Given the description of an element on the screen output the (x, y) to click on. 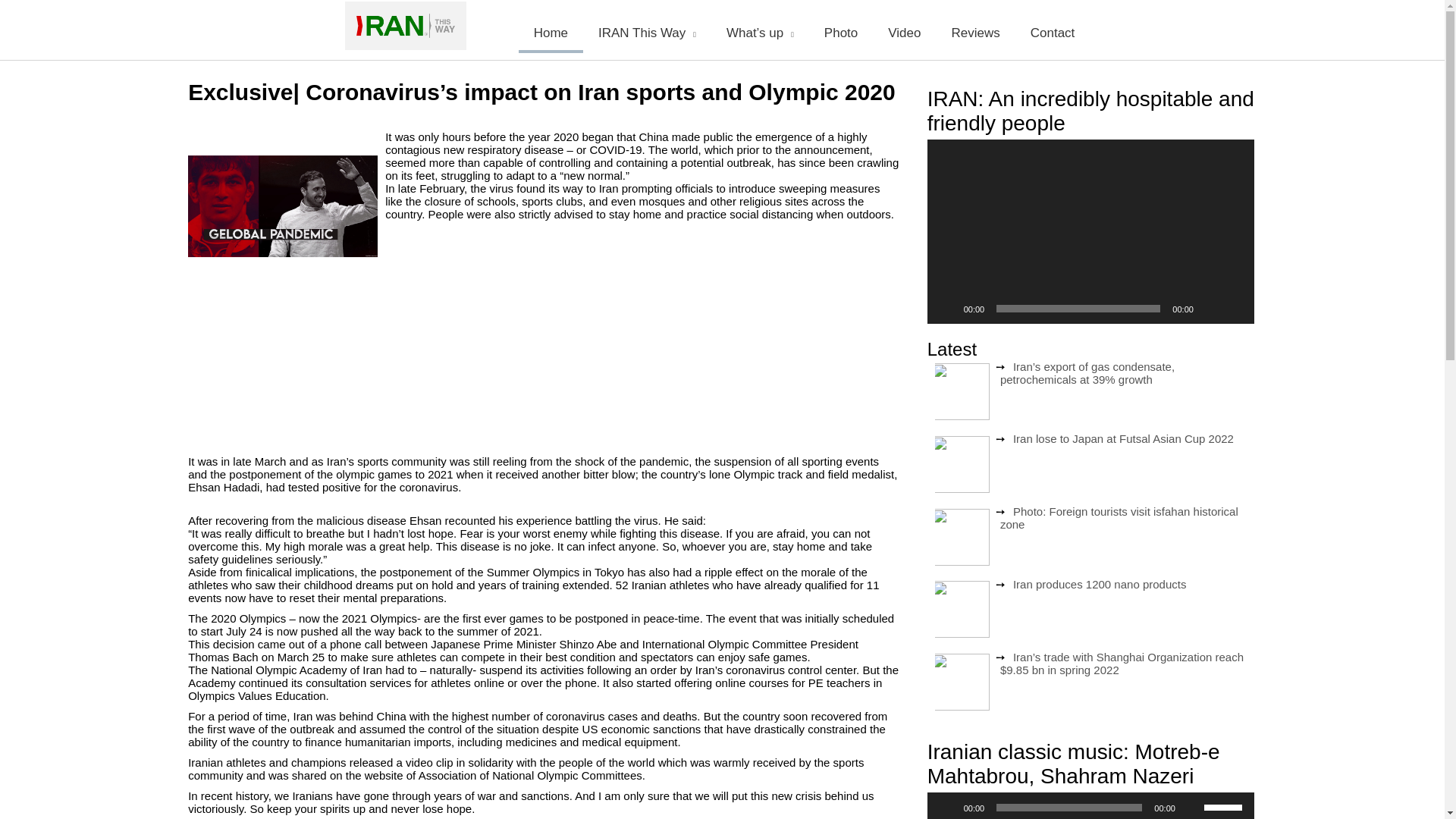
Home (550, 30)
Mute (1192, 807)
Iran produces 1200 nano products (1099, 584)
IRAN This Way (647, 30)
Photo (840, 30)
Photo: Foreign tourists visit isfahan historical zone (1119, 517)
Iran lose to Japan at Futsal Asian Cup 2022 (1123, 438)
Mute (1209, 308)
Fullscreen (1234, 308)
Play (947, 308)
